Given the description of an element on the screen output the (x, y) to click on. 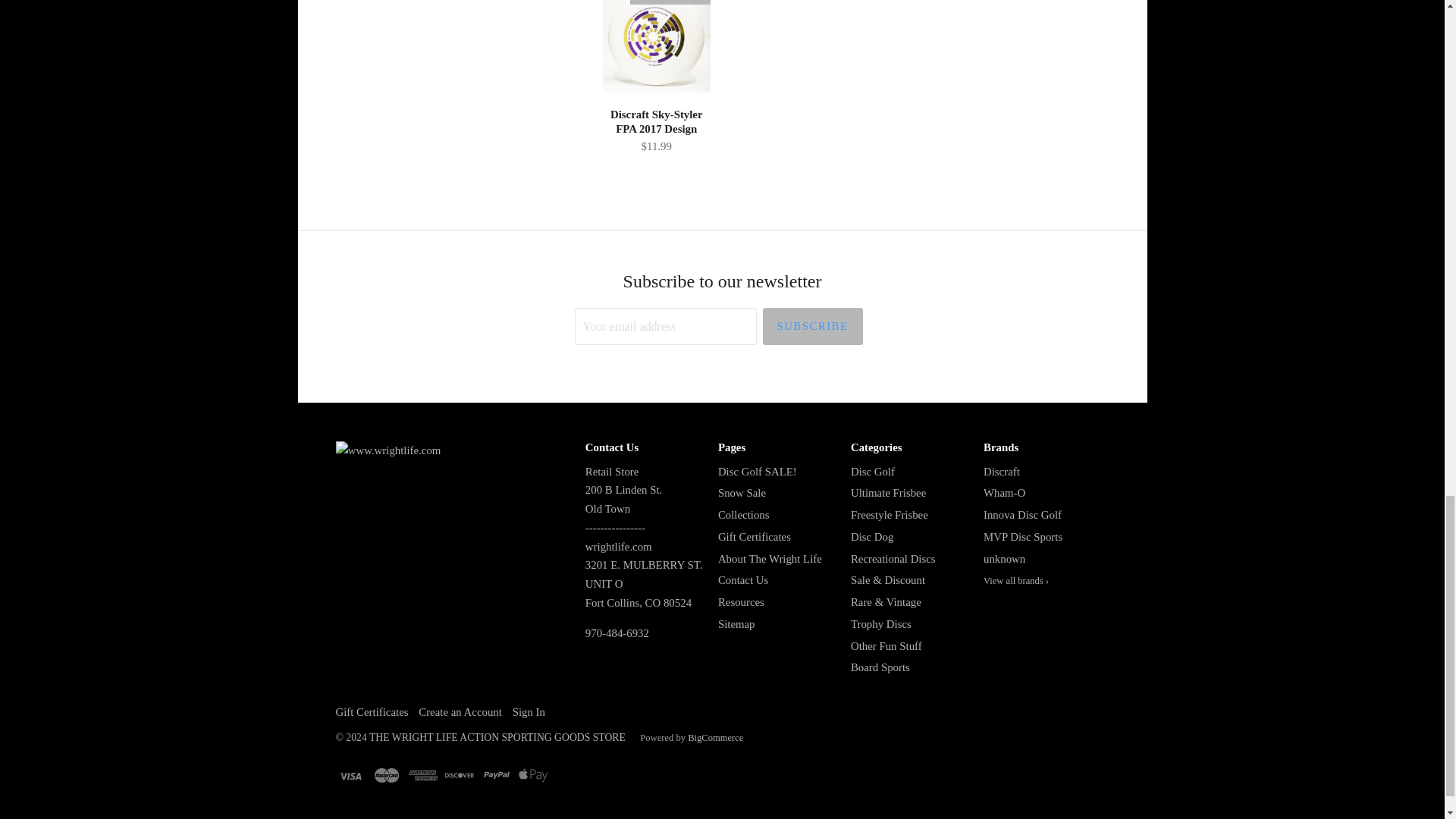
Discover (459, 775)
American Express (423, 775)
Visa (349, 775)
Discraft Sky-Styler FPA 2017 Design (656, 131)
Mastercard (386, 775)
Discraft Sky-Styler FPA 2017 Design (656, 49)
Subscribe (812, 325)
